Given the description of an element on the screen output the (x, y) to click on. 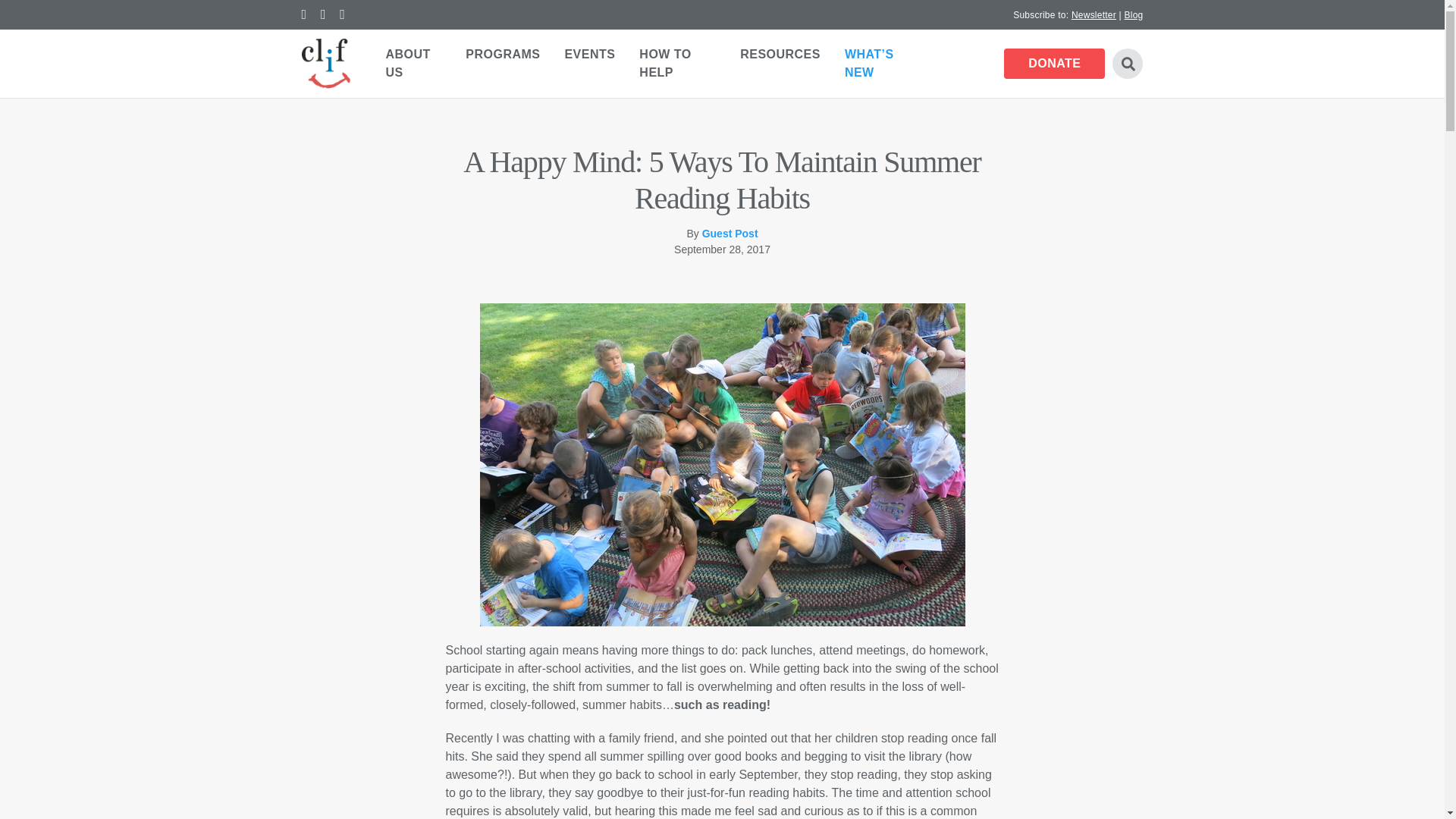
ABOUT US (412, 63)
PROGRAMS (501, 54)
RESOURCES (780, 54)
Blog (1133, 14)
HOW TO HELP (677, 63)
EVENTS (589, 54)
DONATE (1054, 63)
Newsletter (1093, 14)
